Given the description of an element on the screen output the (x, y) to click on. 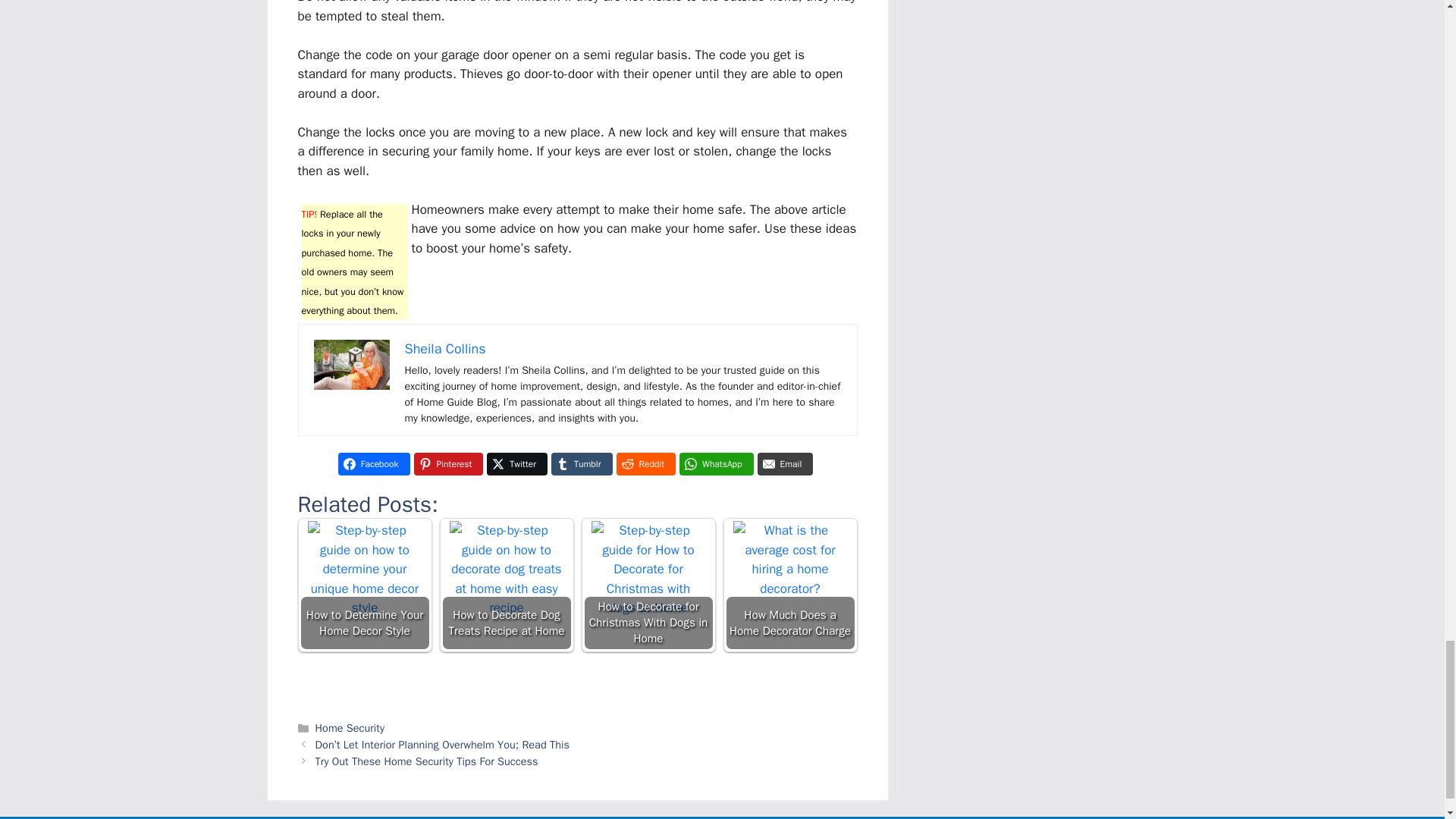
Share on Facebook (373, 463)
Share on Tumblr (581, 463)
Tips To Make The Most Of Your Home Security 2 (352, 364)
Share on Twitter (516, 463)
Reddit (645, 463)
Pinterest (448, 463)
Twitter (516, 463)
Tumblr (581, 463)
How to Determine Your Home Decor Style (364, 577)
Share on Email (785, 463)
